Given the description of an element on the screen output the (x, y) to click on. 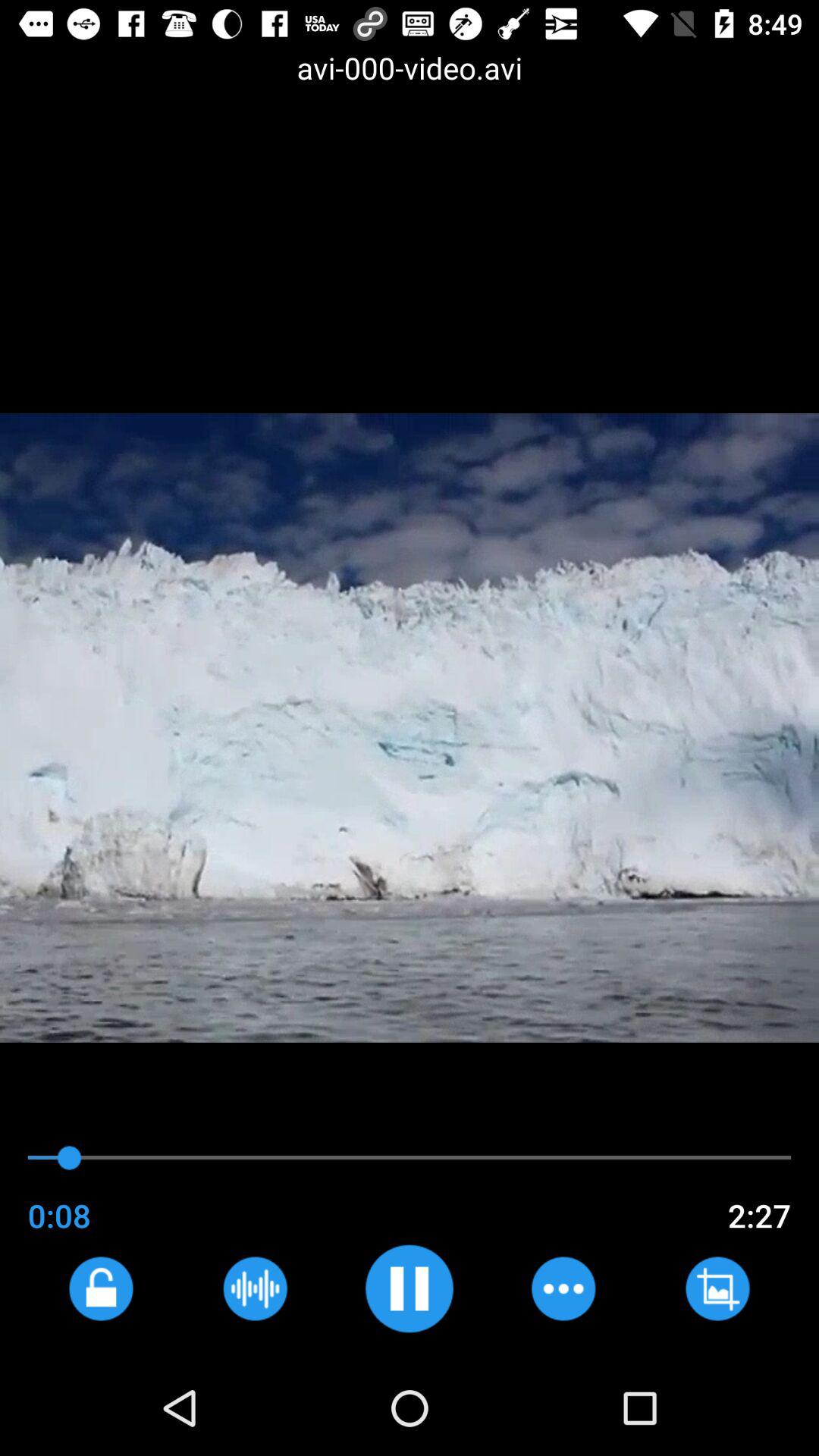
lock the screen (100, 1288)
